Given the description of an element on the screen output the (x, y) to click on. 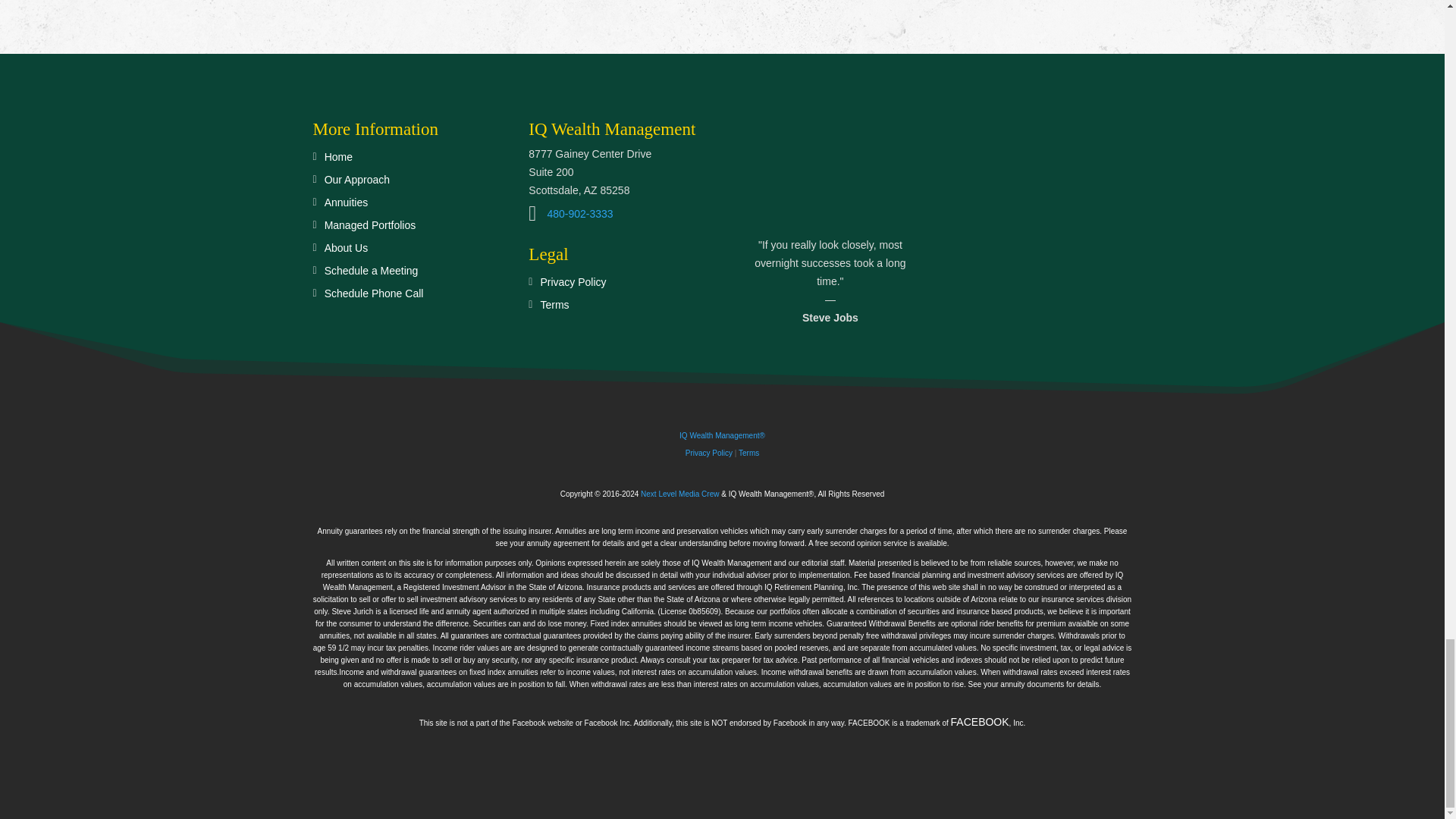
Annuities (342, 205)
Couple wrapped in blanket take photo (829, 170)
Home (334, 159)
Our Approach (353, 182)
